Given the description of an element on the screen output the (x, y) to click on. 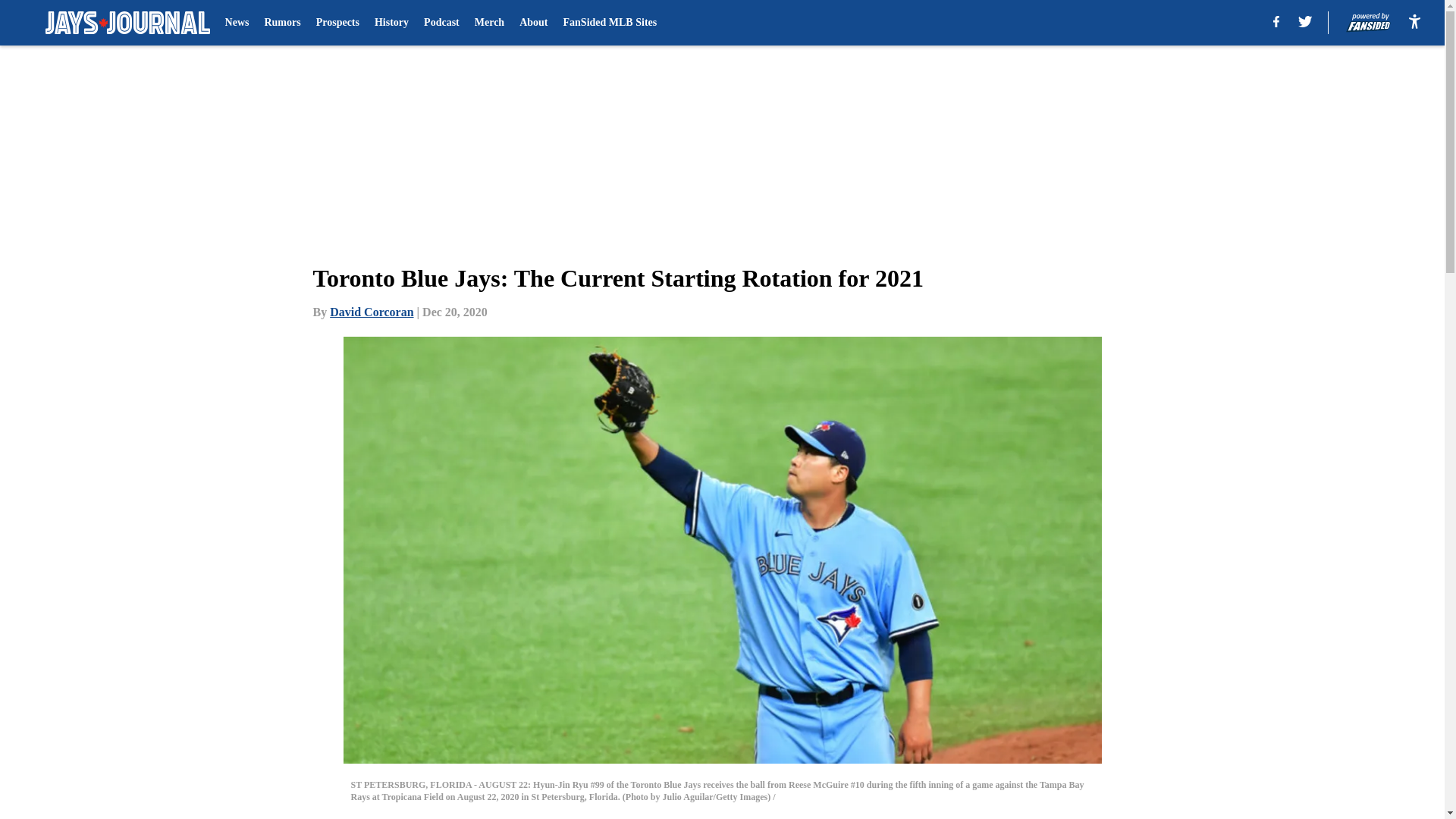
David Corcoran (371, 311)
News (236, 22)
Merch (488, 22)
FanSided MLB Sites (610, 22)
Prospects (337, 22)
Rumors (281, 22)
Podcast (441, 22)
History (391, 22)
About (533, 22)
